Given the description of an element on the screen output the (x, y) to click on. 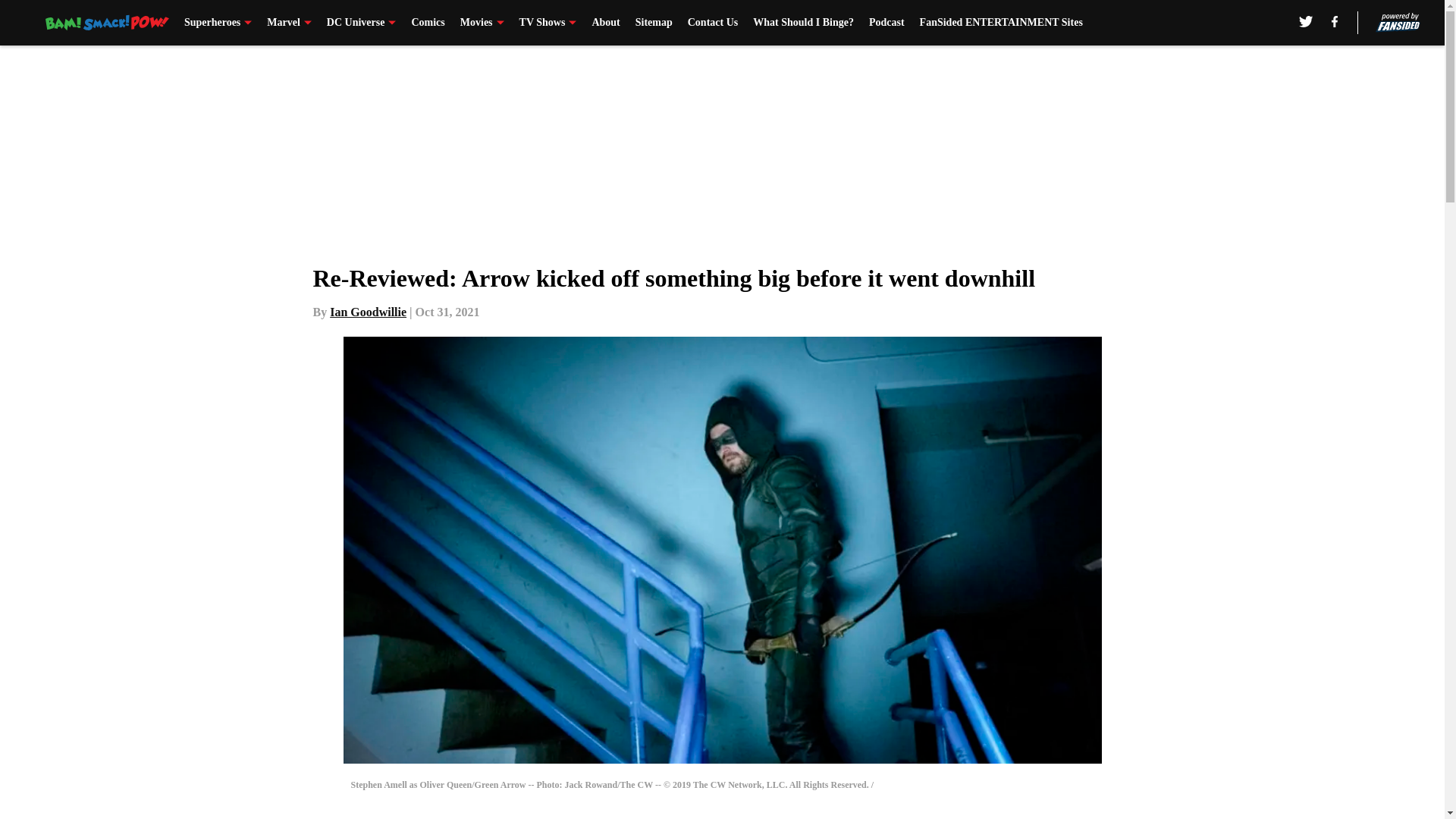
Contact Us (712, 22)
Ian Goodwillie (368, 311)
FanSided ENTERTAINMENT Sites (1001, 22)
What Should I Binge? (802, 22)
Comics (427, 22)
Sitemap (653, 22)
About (605, 22)
Podcast (886, 22)
Movies (481, 22)
